Given the description of an element on the screen output the (x, y) to click on. 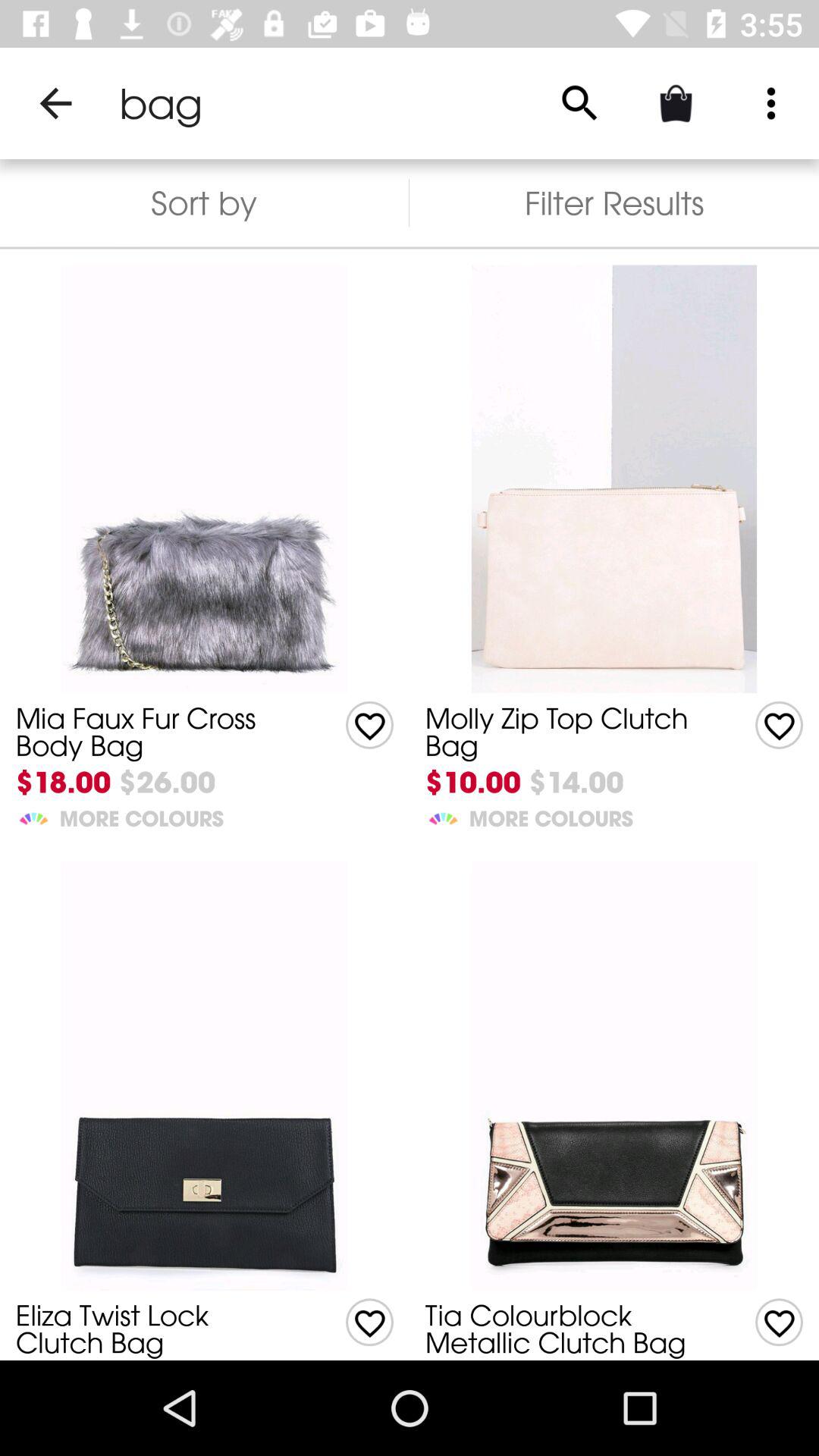
turn on the item to the left of more colours item (443, 815)
